Given the description of an element on the screen output the (x, y) to click on. 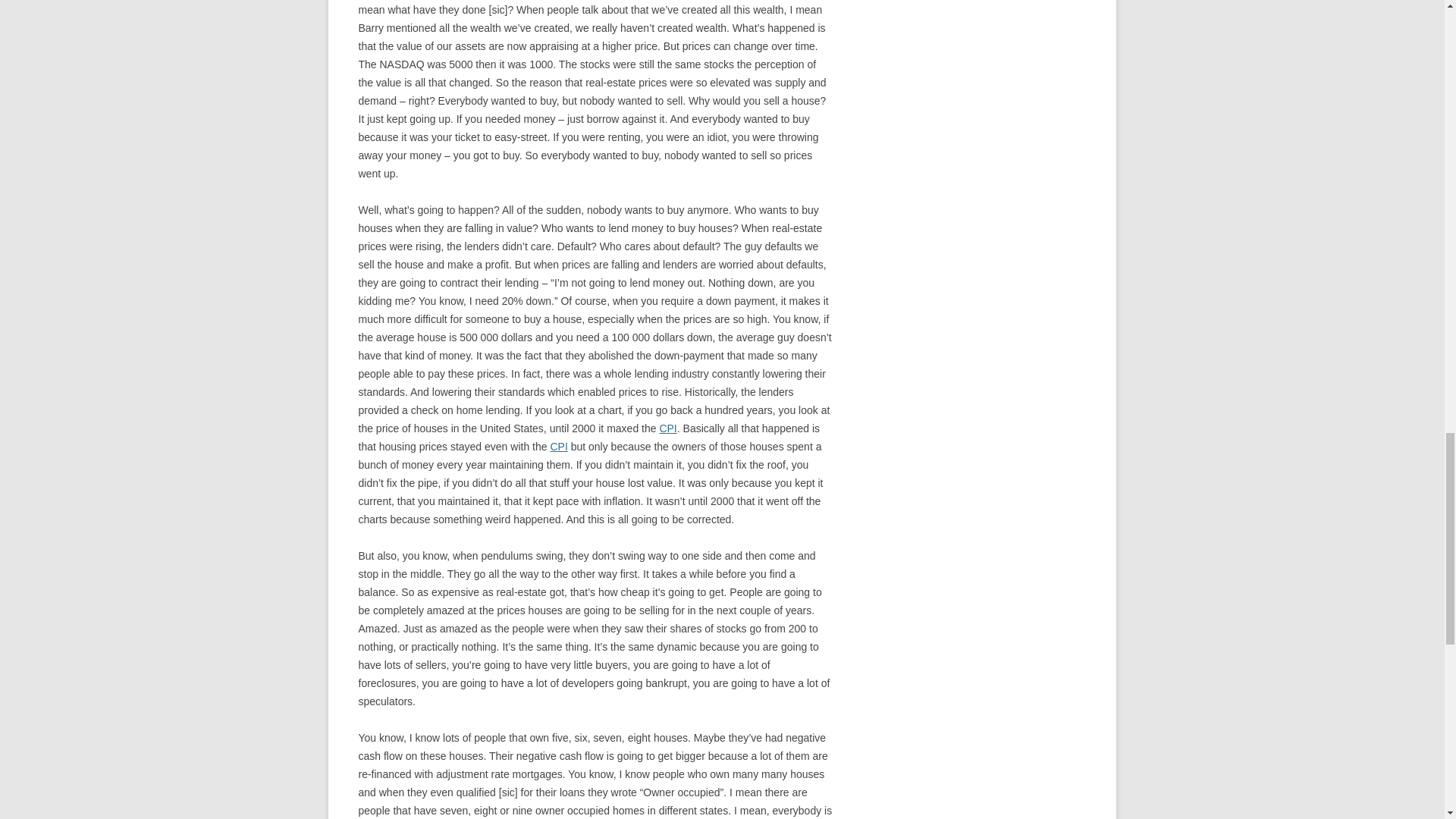
CPI (558, 446)
CPI (668, 428)
